Given the description of an element on the screen output the (x, y) to click on. 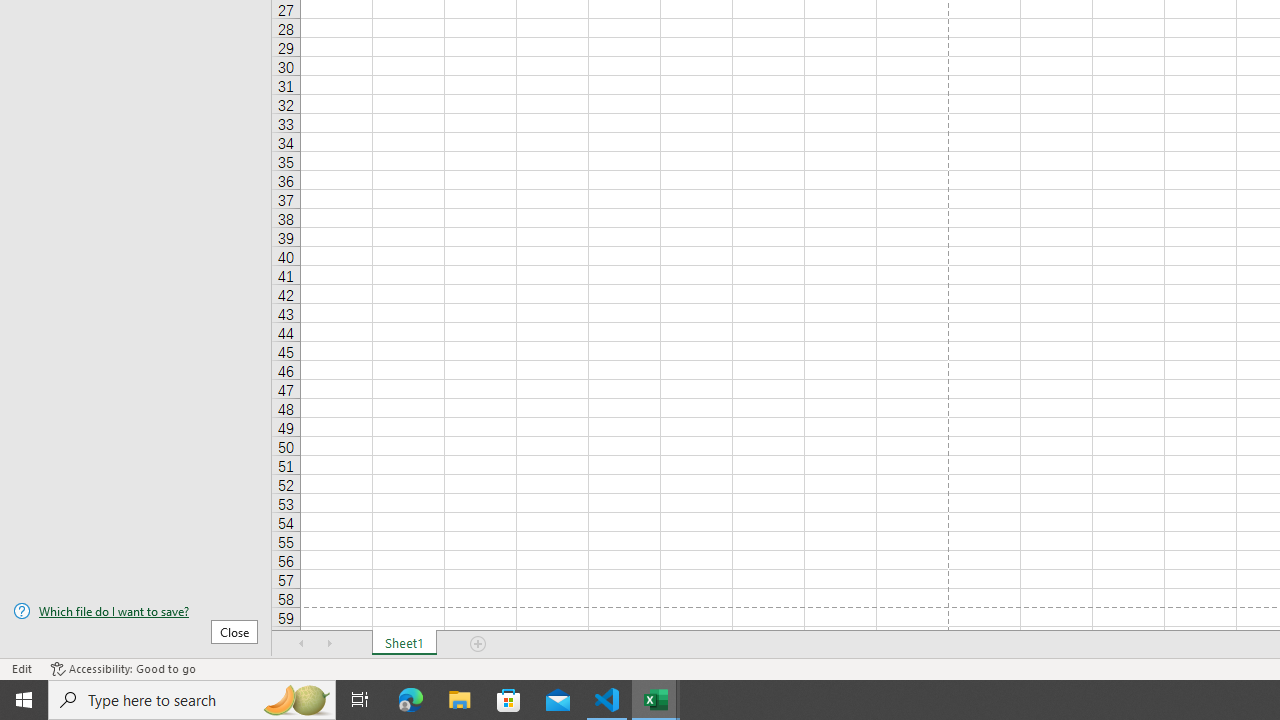
Which file do I want to save? (136, 611)
